Given the description of an element on the screen output the (x, y) to click on. 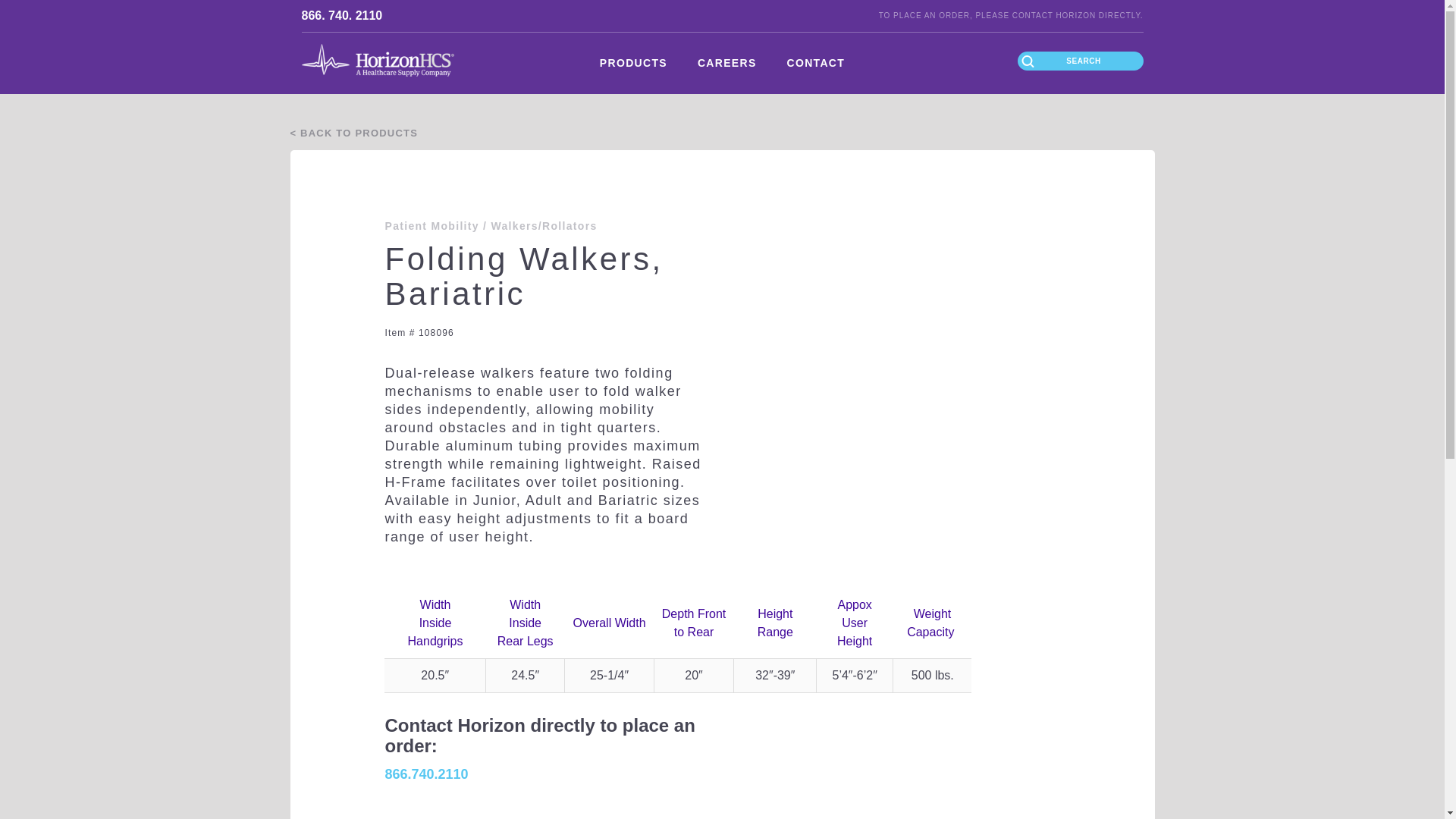
Search for: (1079, 60)
CAREERS (726, 63)
Patient Mobility (431, 225)
866.740.2110 (425, 774)
PRODUCTS (633, 63)
CONTACT (815, 63)
